Given the description of an element on the screen output the (x, y) to click on. 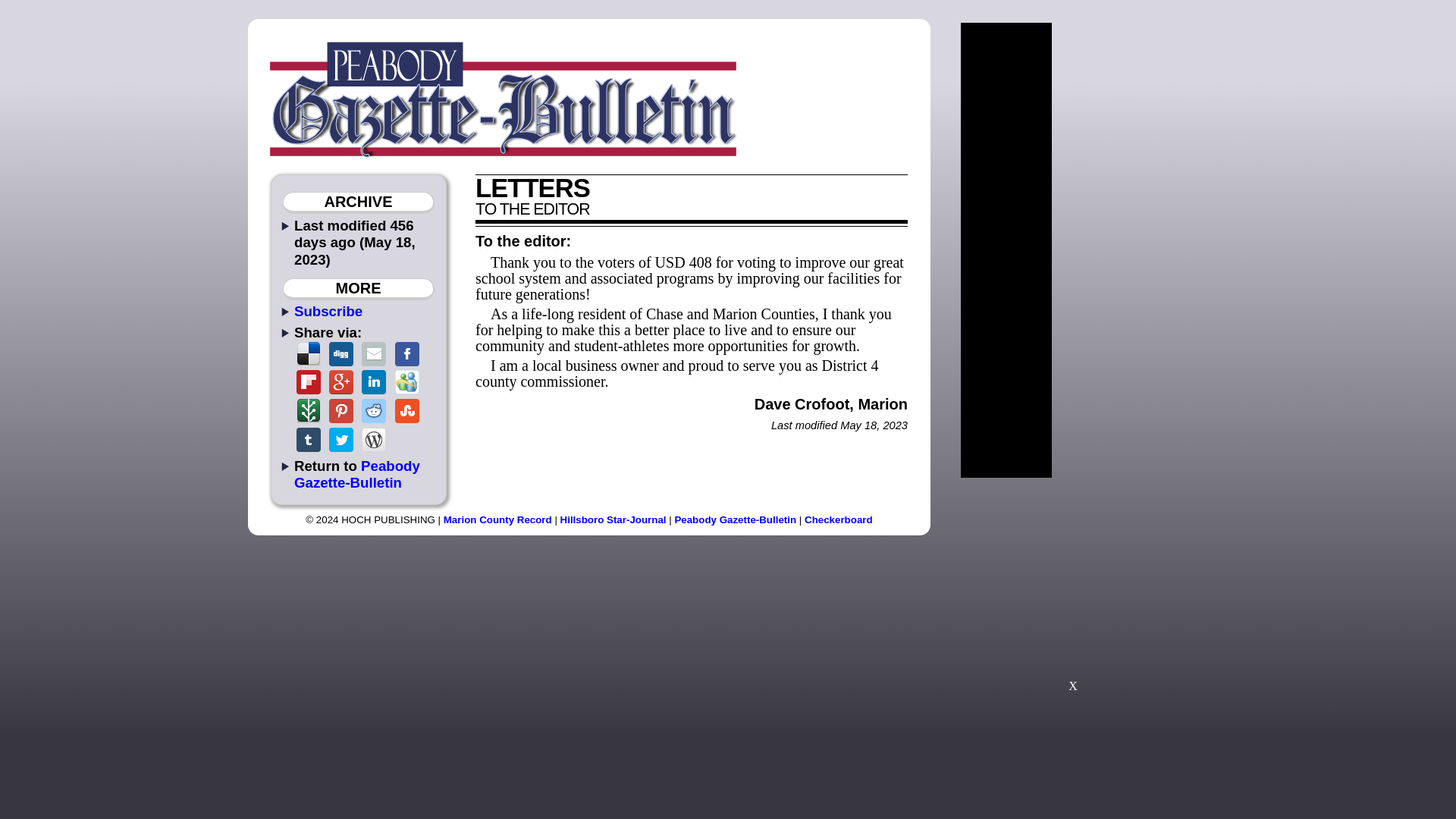
Marion County Record (497, 519)
Advertisement (1072, 591)
Peabody Gazette-Bulletin (357, 473)
Checkerboard (838, 519)
Subscribe (328, 311)
Hillsboro Star-Journal (613, 519)
Peabody Gazette-Bulletin (735, 519)
